Given the description of an element on the screen output the (x, y) to click on. 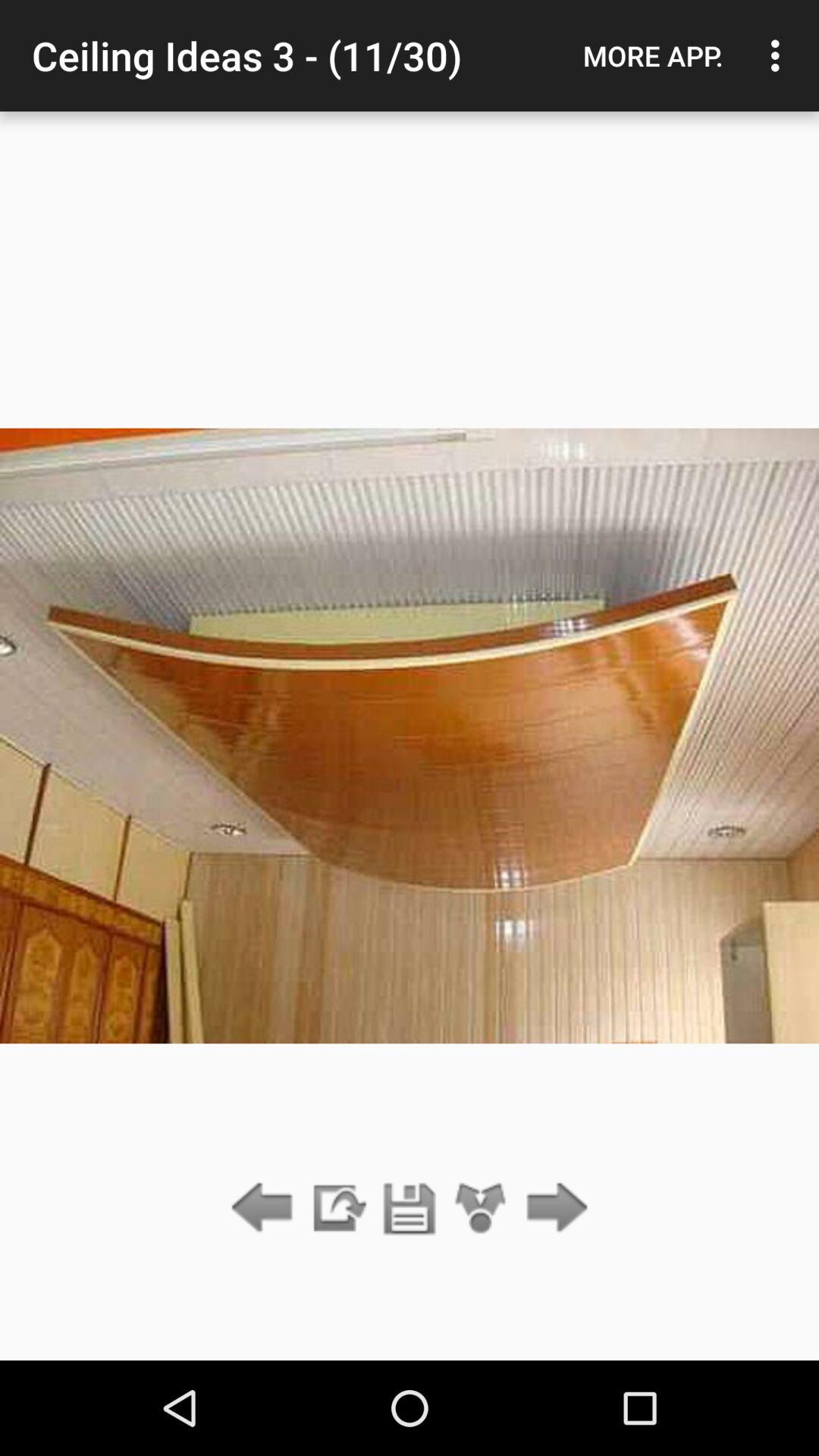
save picture (409, 1208)
